Given the description of an element on the screen output the (x, y) to click on. 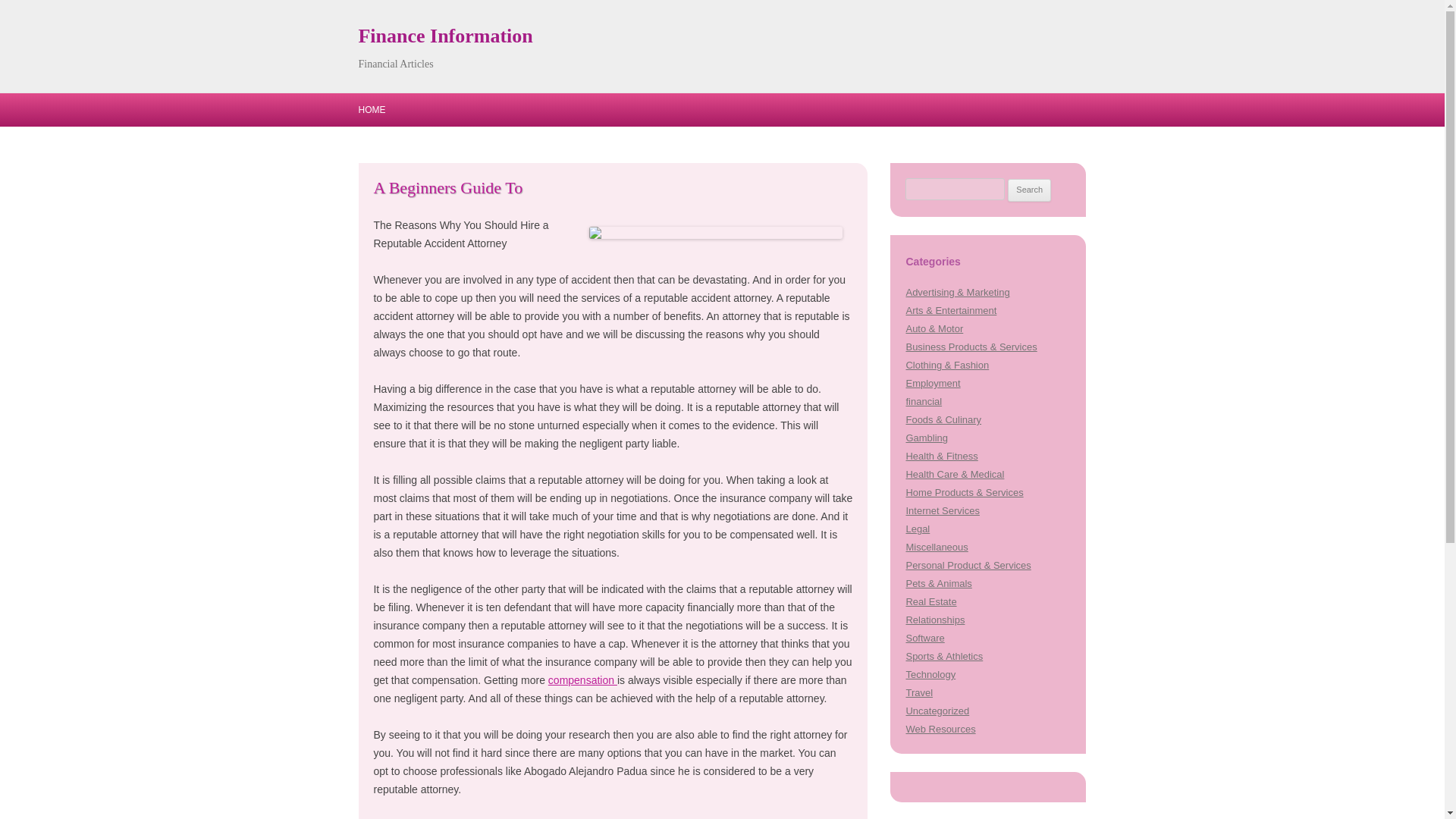
financial (923, 401)
Internet Services (941, 510)
Finance Information (445, 36)
Web Resources (940, 728)
Legal (917, 528)
Gambling (926, 437)
Search (1029, 190)
Software (924, 637)
Finance Information (445, 36)
